Given the description of an element on the screen output the (x, y) to click on. 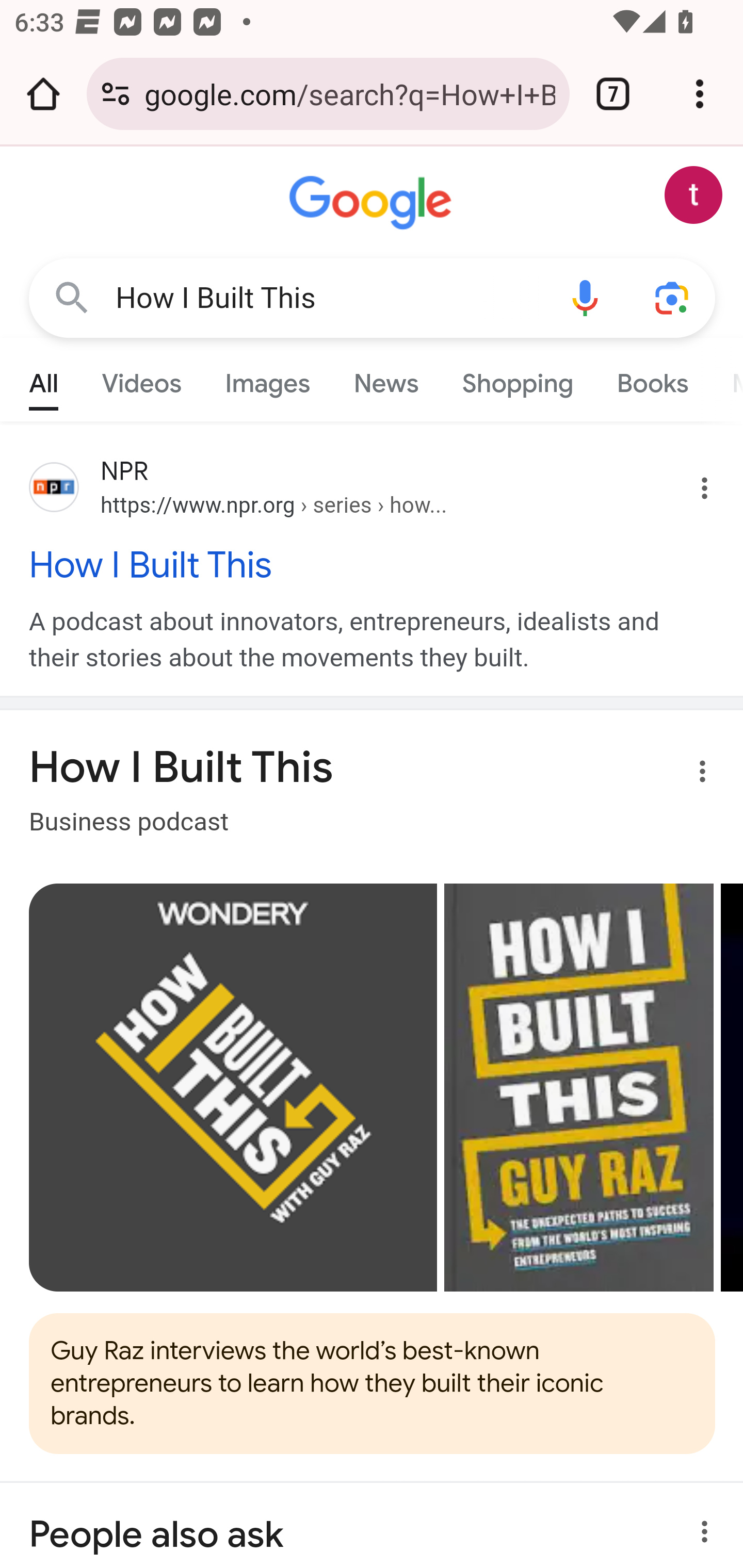
Open the home page (43, 93)
Connection is secure (115, 93)
Switch or close tabs (612, 93)
Customize and control Google Chrome (699, 93)
Google (372, 203)
Google Search (71, 296)
Search using your camera or photos (672, 296)
How I Built This (328, 297)
Videos (141, 378)
Images (267, 378)
News (385, 378)
Shopping (516, 378)
Books (652, 378)
How I Built This (372, 564)
More options (690, 774)
How I Built This with Guy Raz - Wondery (233, 1087)
About this result (698, 1524)
